Given the description of an element on the screen output the (x, y) to click on. 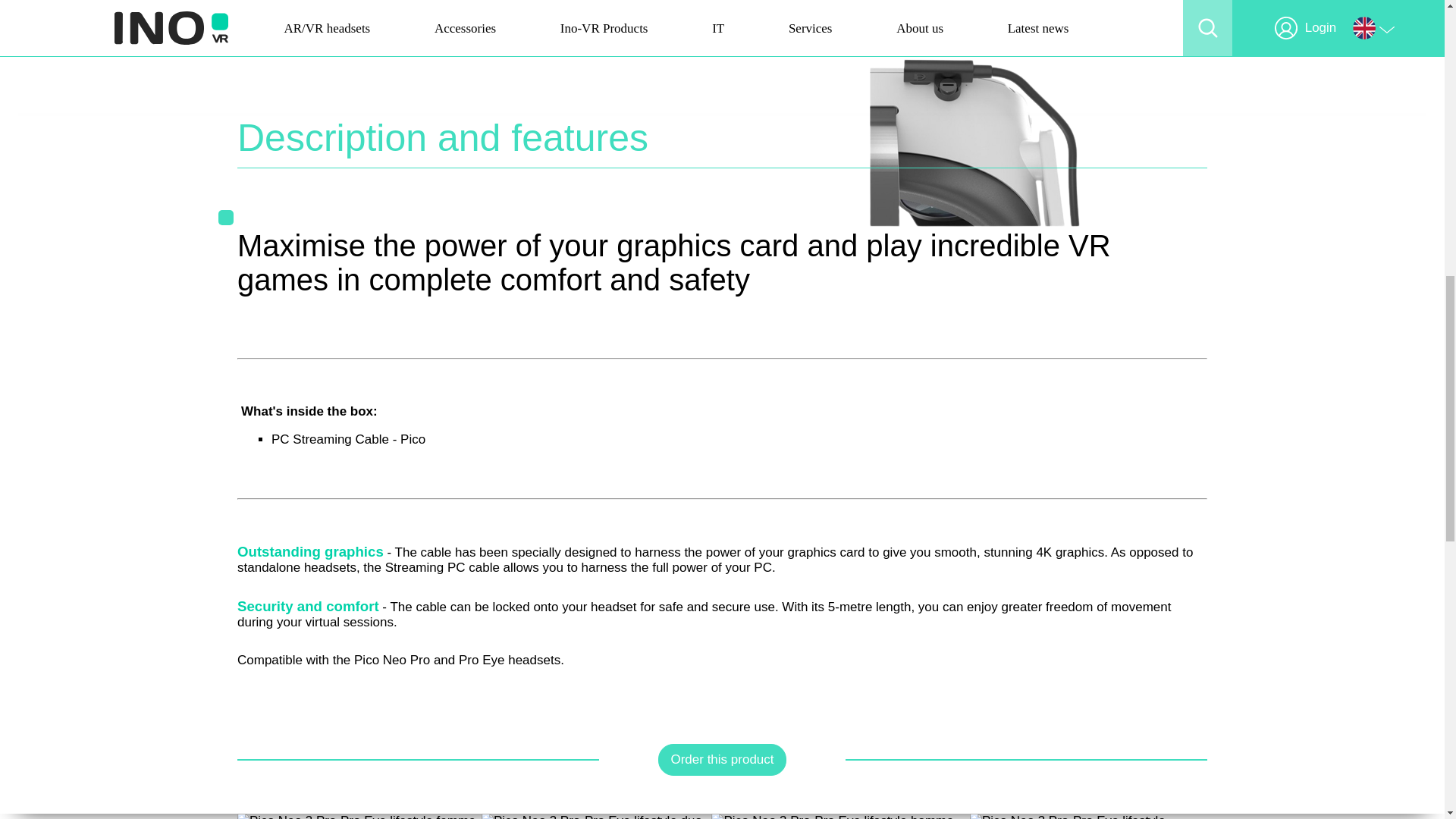
pico-neo-3-pro-lifestyle-femme-fonds-bleu.jpg (1088, 816)
pico-neo-3-pro-lifestyle-homme-fond-bleu-rose.jpeg (840, 816)
pico-neo-3-pro-lifestyle-femme-fonds-rouge.jpg (359, 816)
pico-neo-3-pro-lifestyle-duo-fonds-rouge.jpg (596, 816)
Login to order (722, 759)
